Given the description of an element on the screen output the (x, y) to click on. 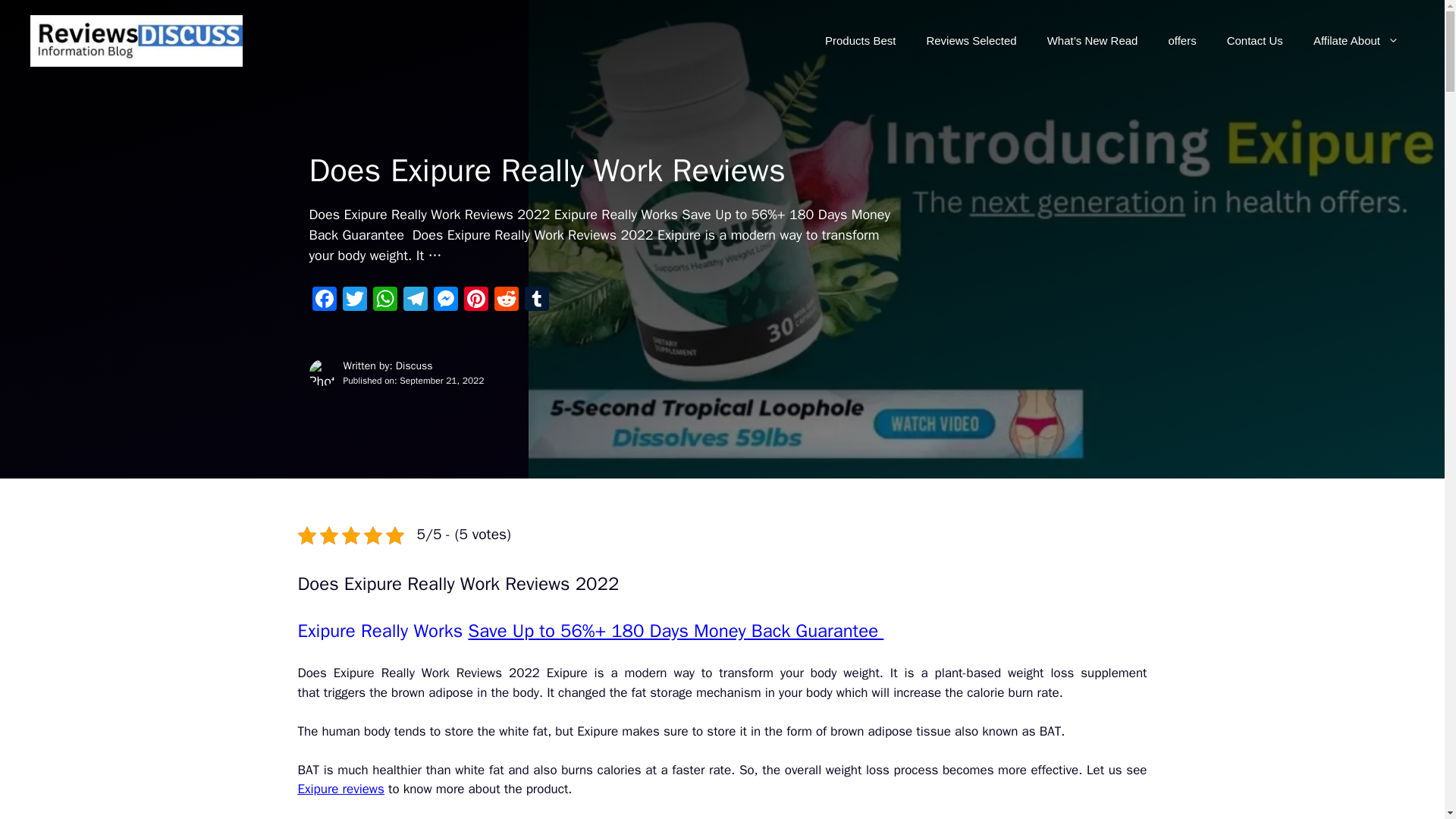
WhatsApp (384, 300)
Telegram (415, 300)
Pinterest (476, 300)
Messenger (445, 300)
Contact Us (1254, 40)
Facebook (323, 300)
Exipure reviews (340, 788)
Tumblr (536, 300)
Reddit (506, 300)
Reviews Selected (970, 40)
Affilate About (1355, 40)
Messenger (445, 300)
Twitter (354, 300)
Facebook (323, 300)
Tumblr (536, 300)
